Given the description of an element on the screen output the (x, y) to click on. 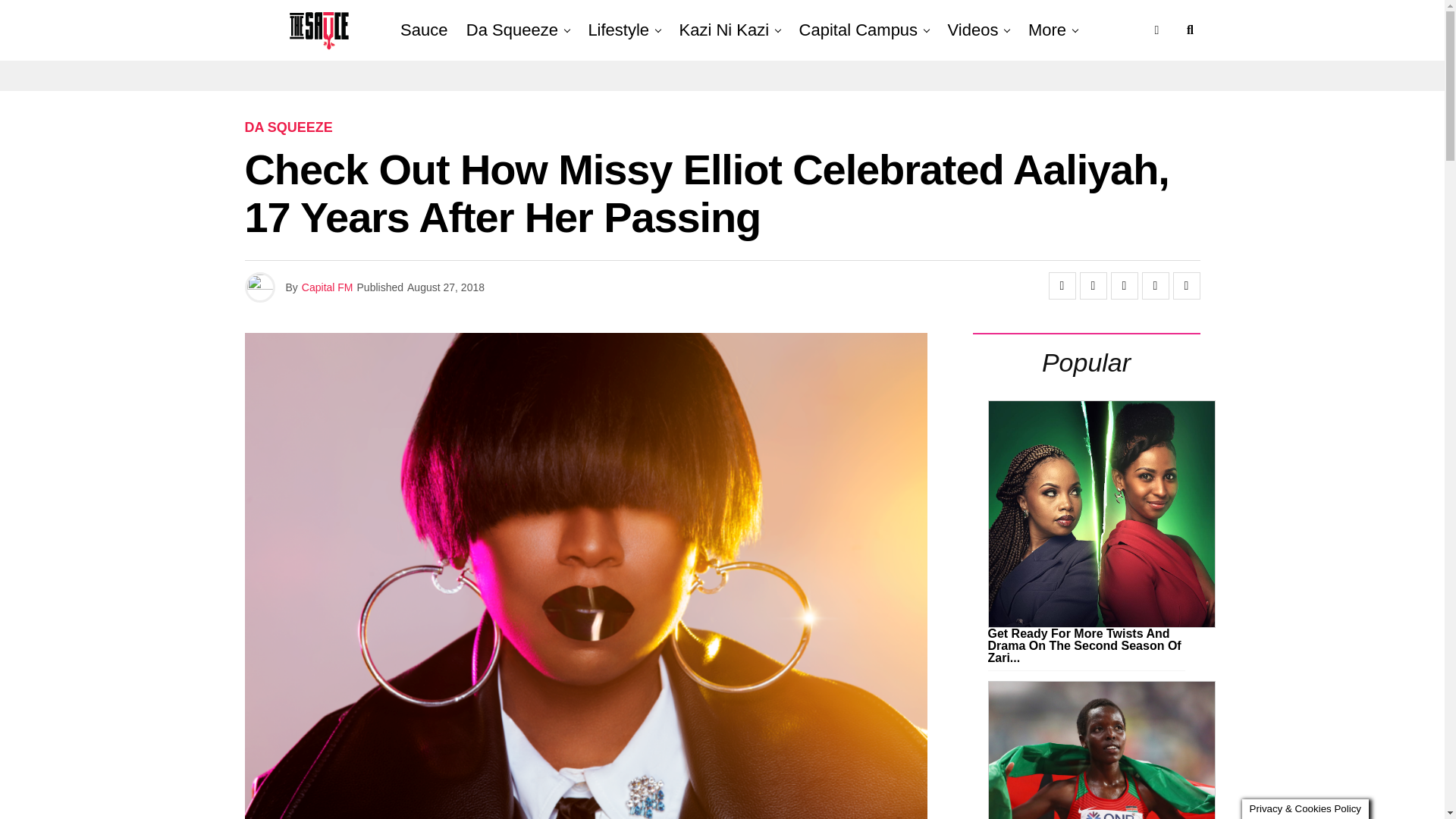
Lifestyle (617, 30)
Tweet This Post (1093, 285)
Capital Campus (859, 30)
The Sauce (406, 30)
Share on Flipboard (1123, 285)
Kazi Ni Kazi (724, 30)
Share on Facebook (1061, 285)
Posts by Capital FM (327, 287)
Da Squeeze (512, 30)
